Given the description of an element on the screen output the (x, y) to click on. 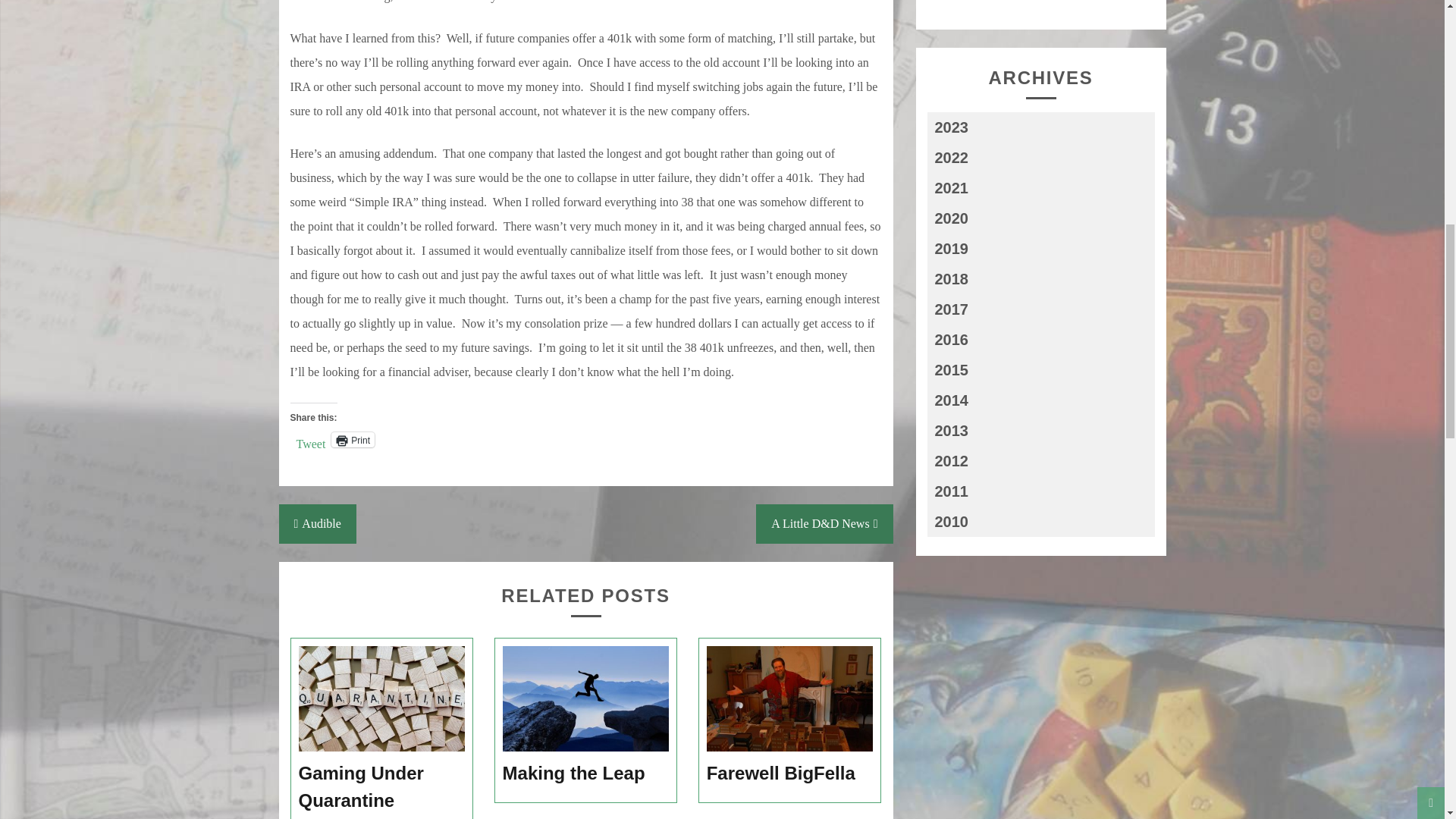
Gaming Under Quarantine (381, 787)
Tweet (309, 438)
Audible (317, 523)
Click to print (352, 439)
Farewell BigFella (789, 773)
Print (352, 439)
Making the Leap (585, 773)
